Given the description of an element on the screen output the (x, y) to click on. 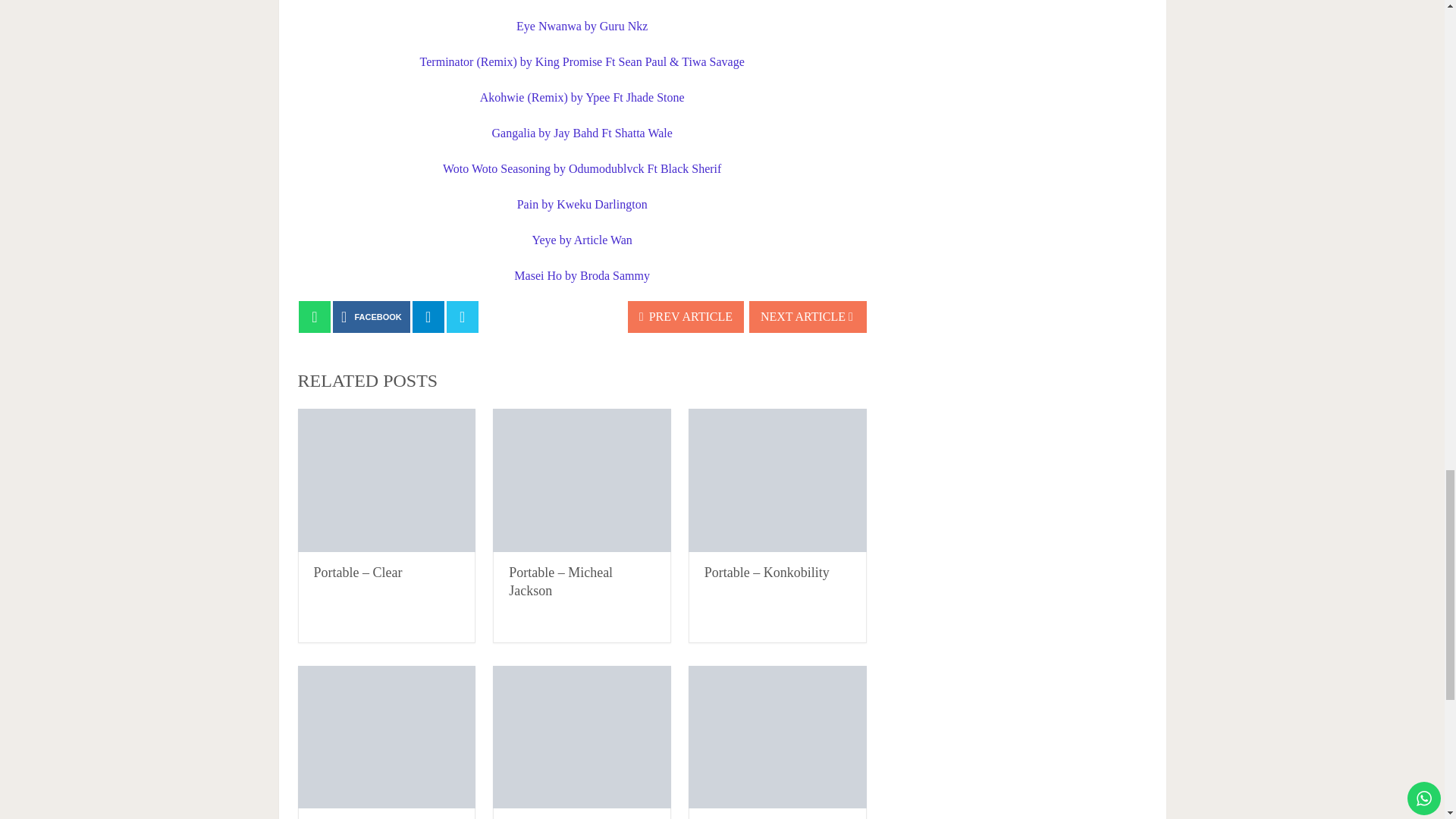
Woto Woto Seasoning by Odumodublvck Ft Black Sherif (581, 168)
Gangalia by Jay Bahd Ft Shatta Wale (581, 132)
Pain by Kweku Darlington (581, 204)
Masei Ho by Broda Sammy (581, 275)
Eye Nwanwa by Guru Nkz (581, 25)
FACEBOOK (371, 316)
Yeye by Article Wan (581, 239)
